Given the description of an element on the screen output the (x, y) to click on. 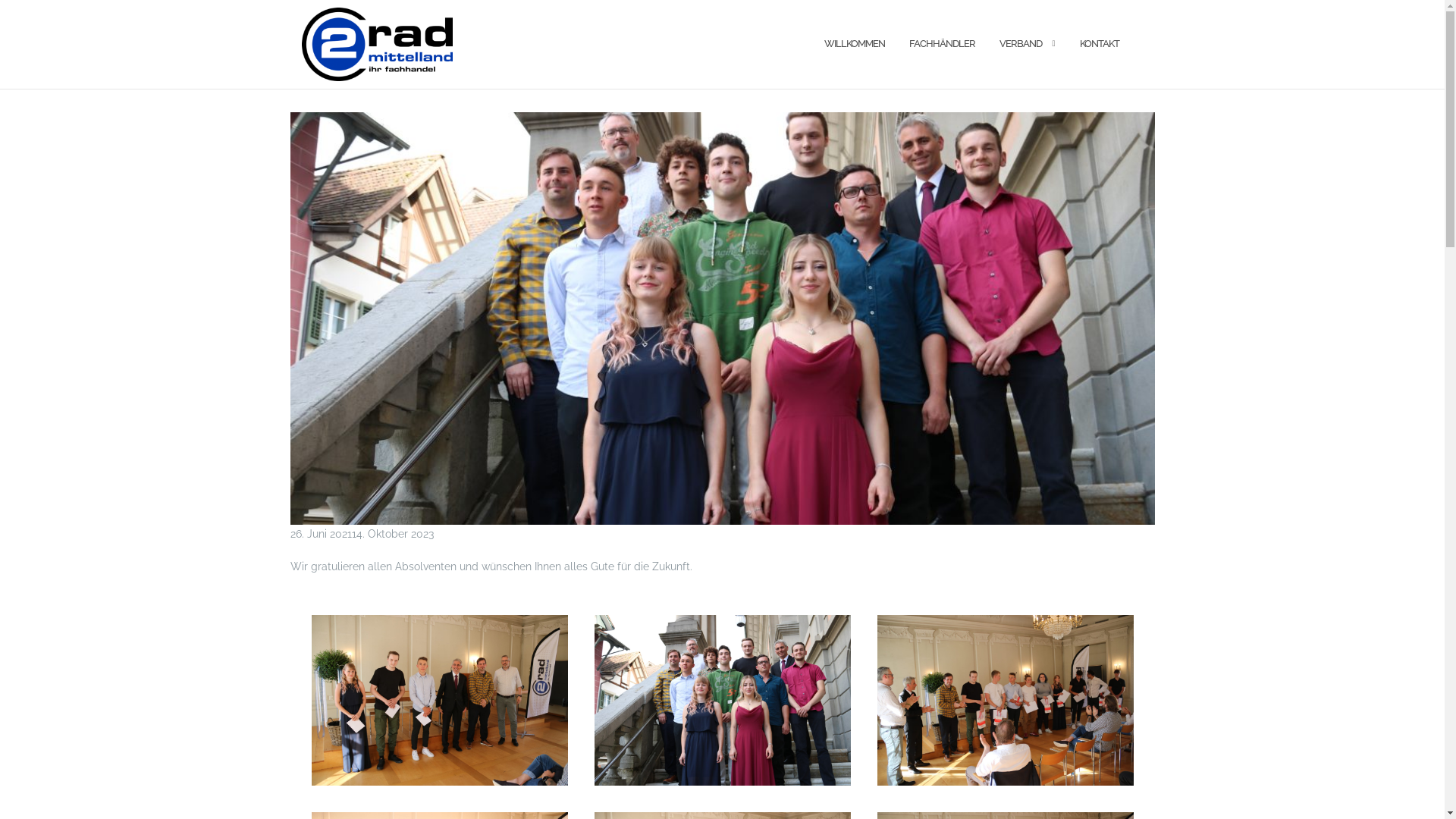
WILLKOMMEN Element type: text (853, 44)
VERBAND Element type: text (1020, 44)
KONTAKT Element type: text (1099, 44)
